Given the description of an element on the screen output the (x, y) to click on. 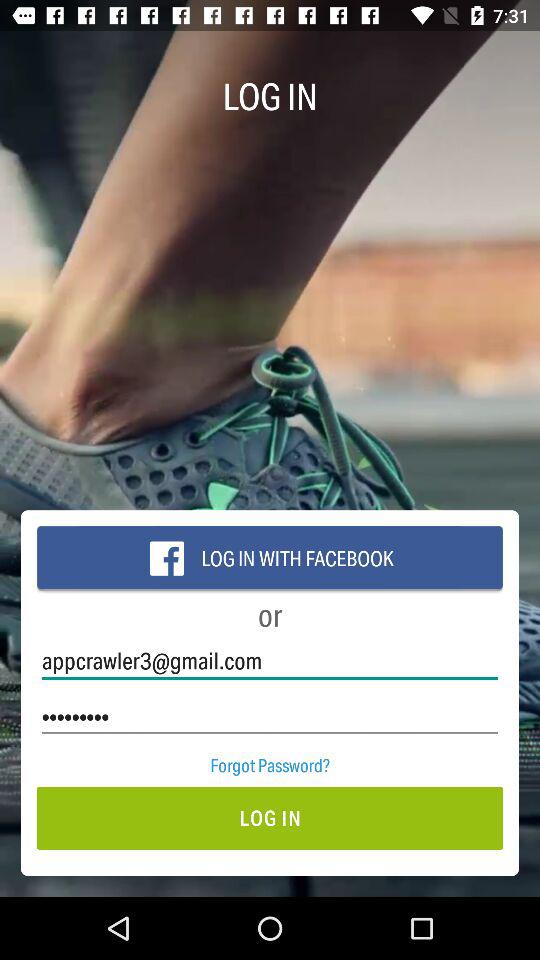
turn on the icon below the or icon (269, 660)
